Given the description of an element on the screen output the (x, y) to click on. 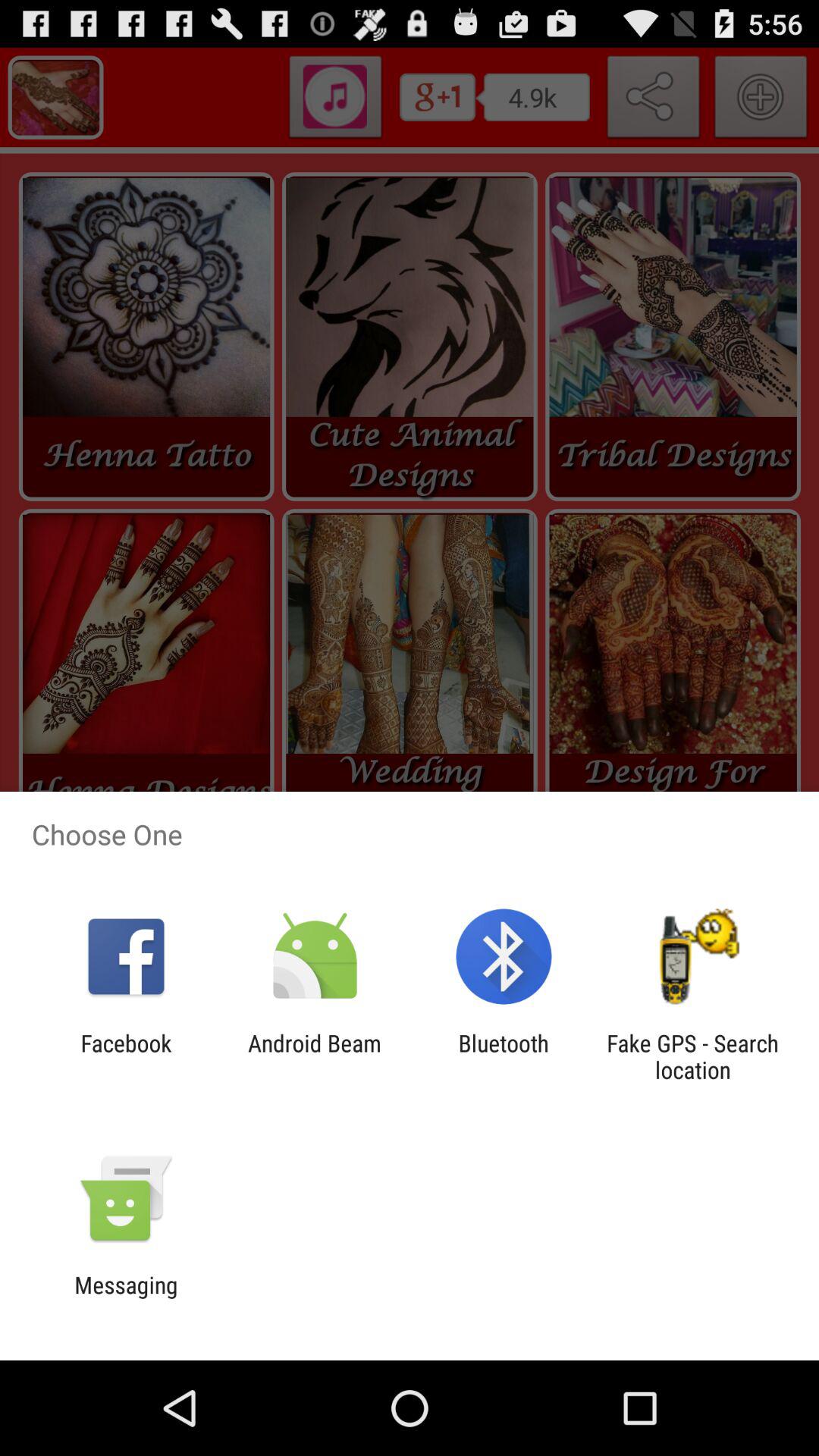
press the item to the left of android beam icon (125, 1056)
